Given the description of an element on the screen output the (x, y) to click on. 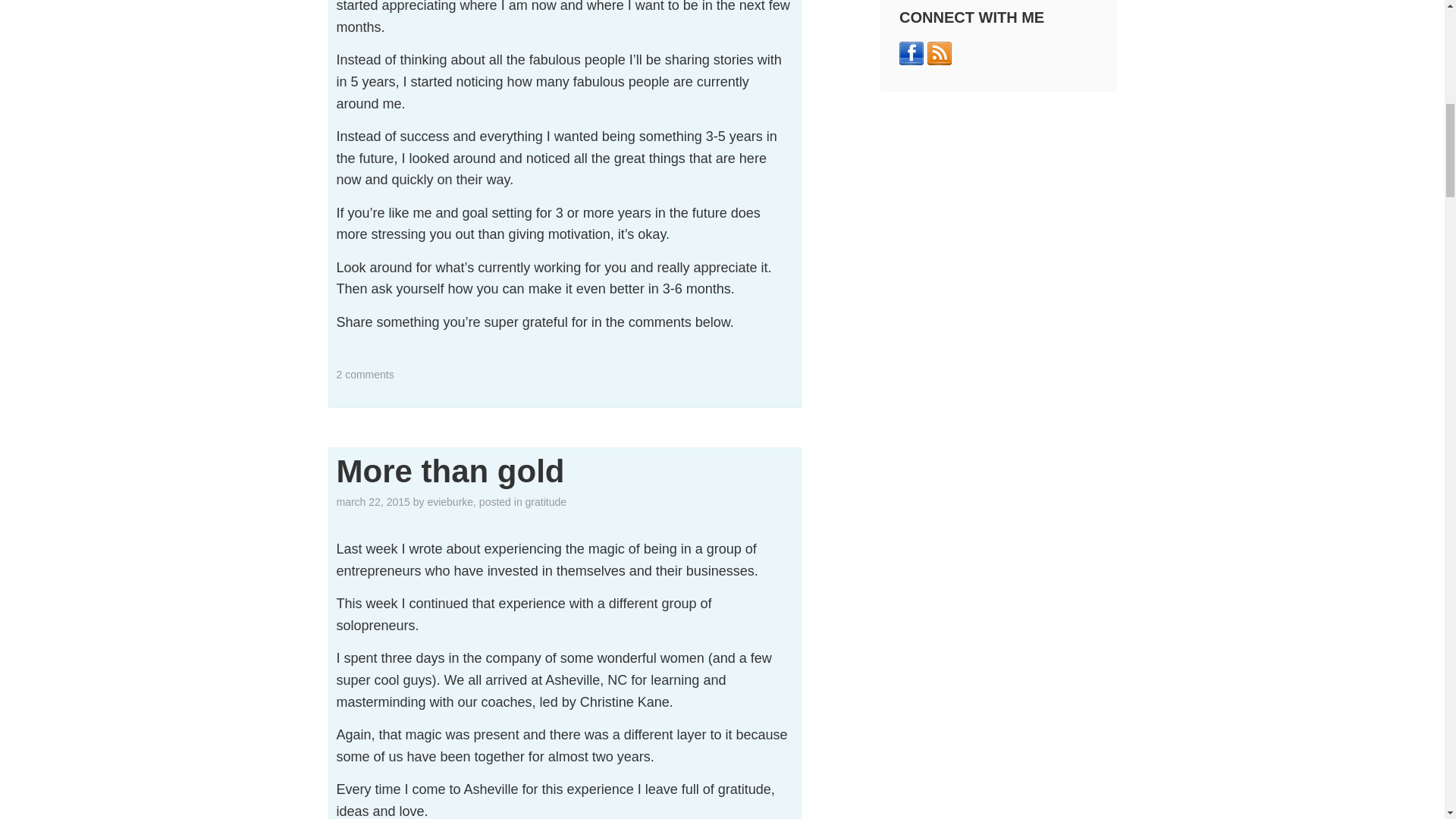
2 comments (365, 374)
More than gold (450, 470)
evieburke (449, 501)
march 22, 2015 (373, 501)
gratitude (545, 501)
